Given the description of an element on the screen output the (x, y) to click on. 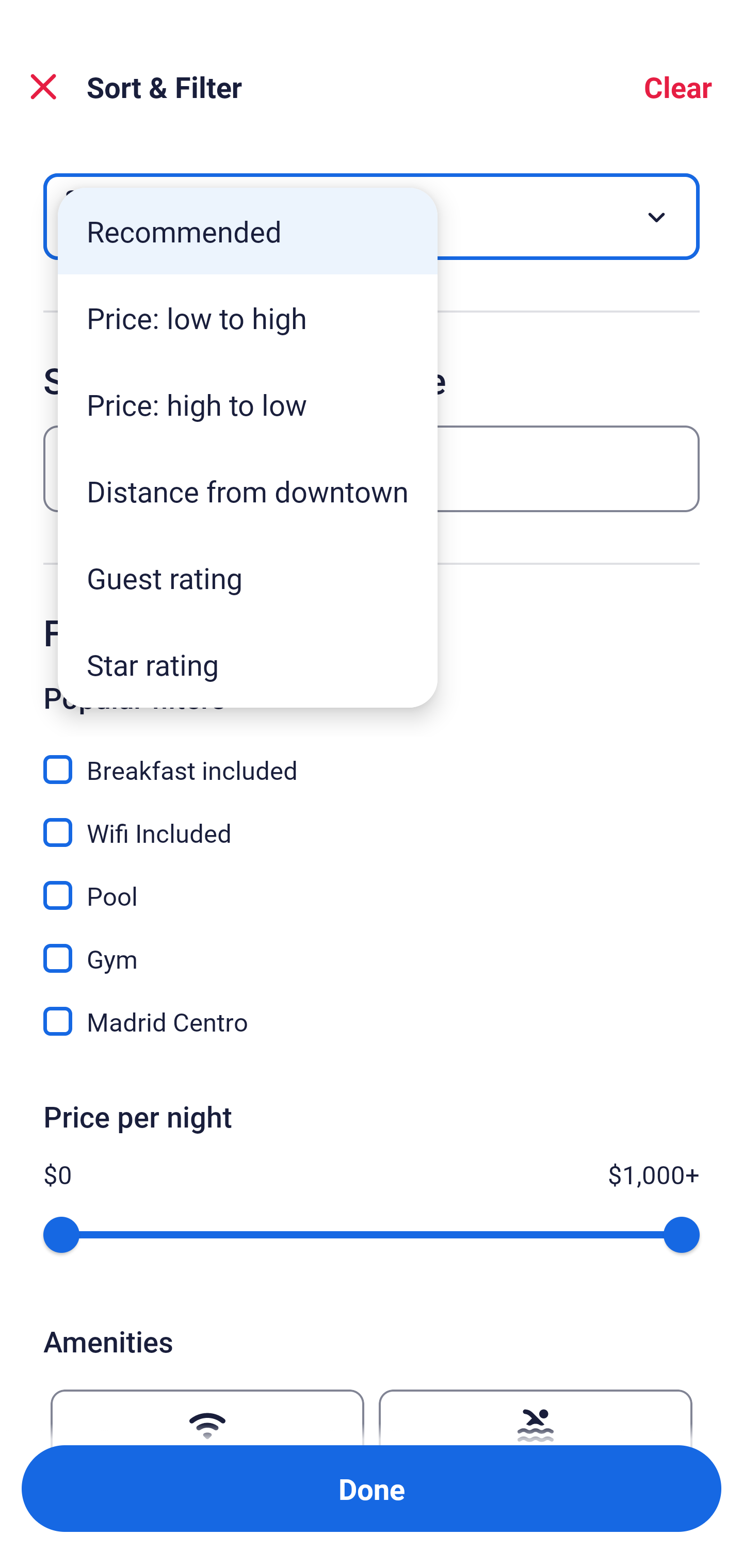
Price: low to high (247, 317)
Price: high to low (247, 404)
Distance from downtown (247, 491)
Guest rating (247, 577)
Star rating (247, 663)
